Given the description of an element on the screen output the (x, y) to click on. 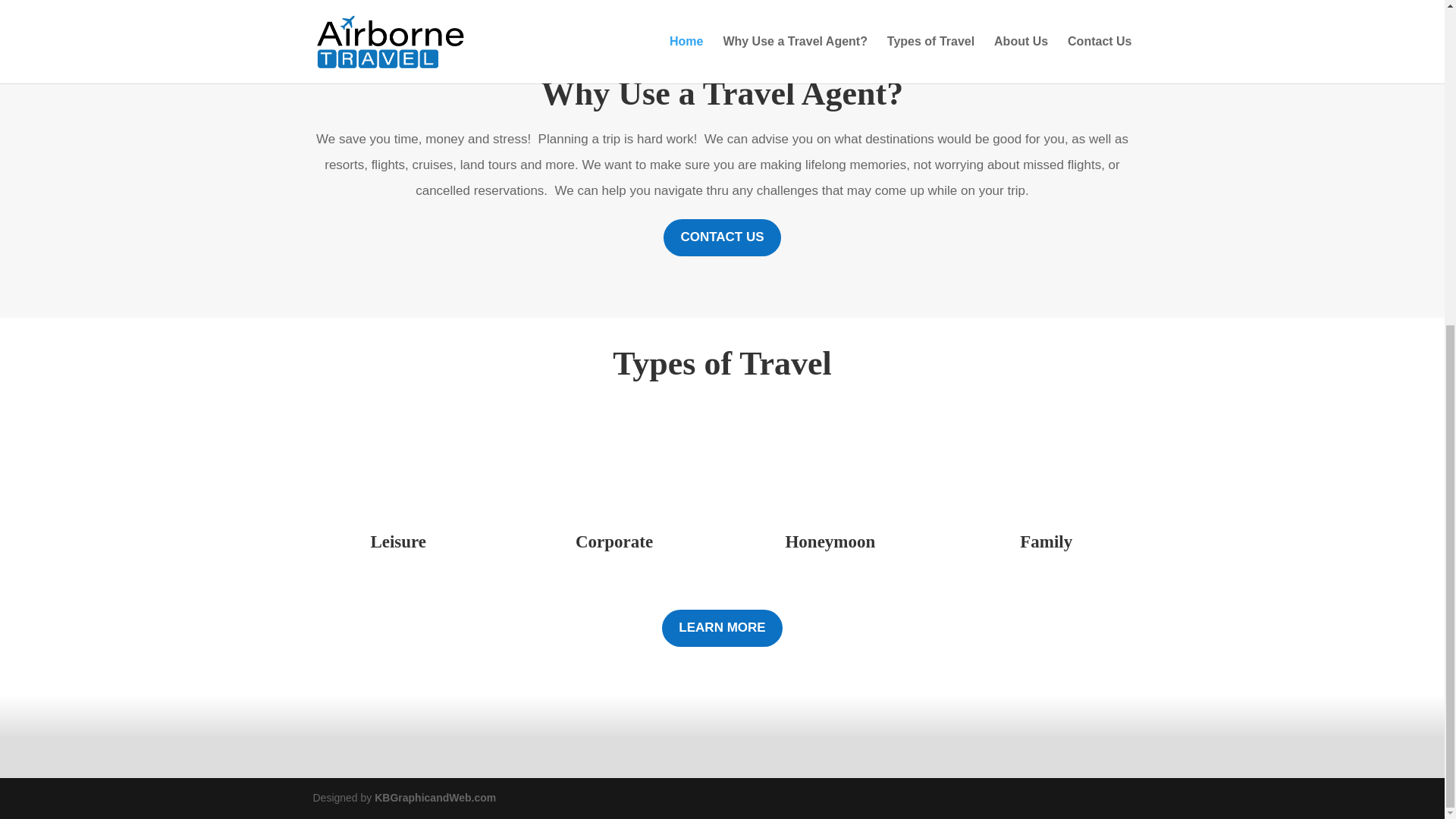
LEARN MORE (721, 628)
KBGraphicandWeb.com (435, 797)
CONTACT US (721, 237)
